Given the description of an element on the screen output the (x, y) to click on. 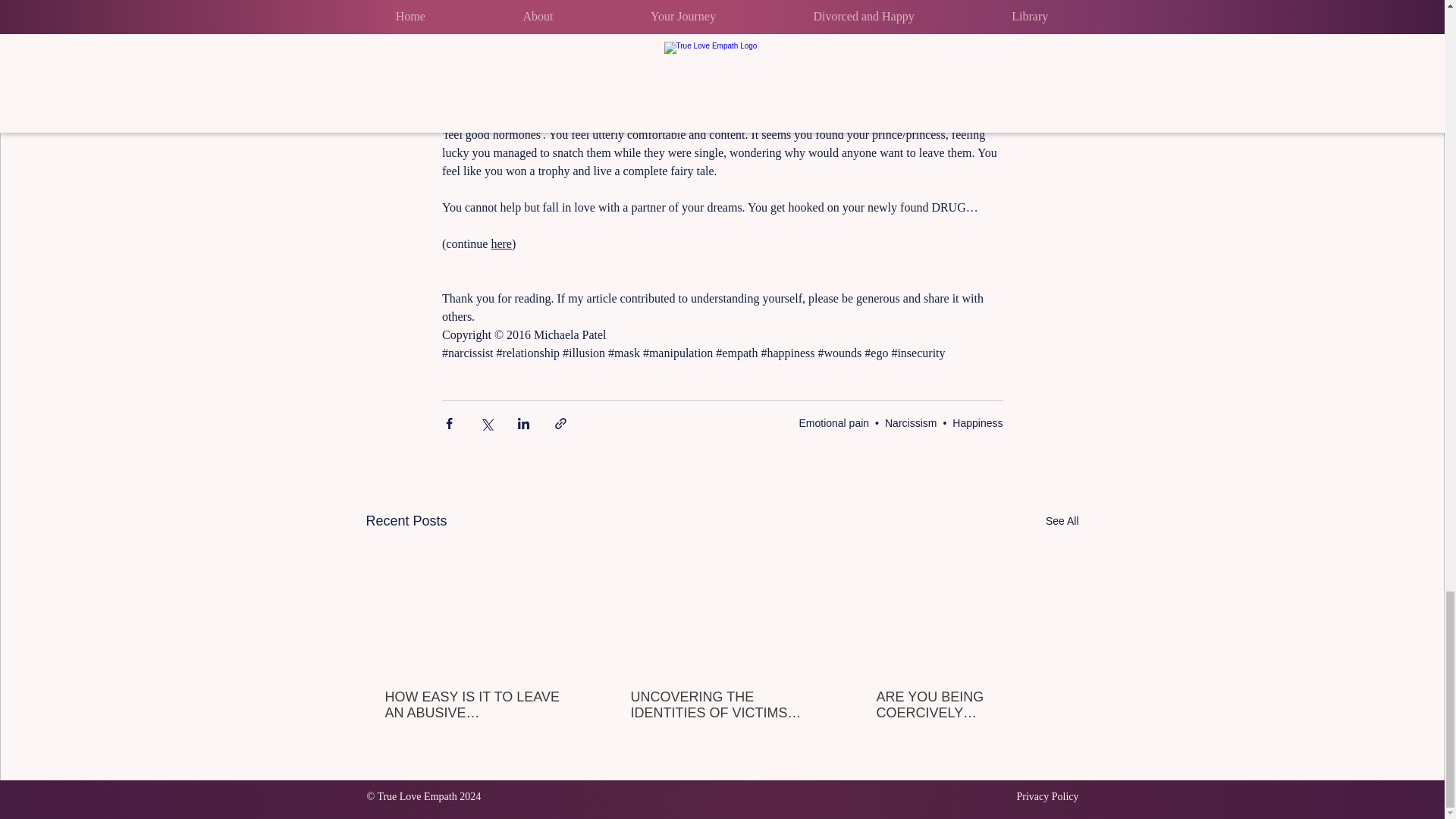
here (501, 243)
continue  (467, 243)
hooked on your newly found DRUG (876, 206)
